Given the description of an element on the screen output the (x, y) to click on. 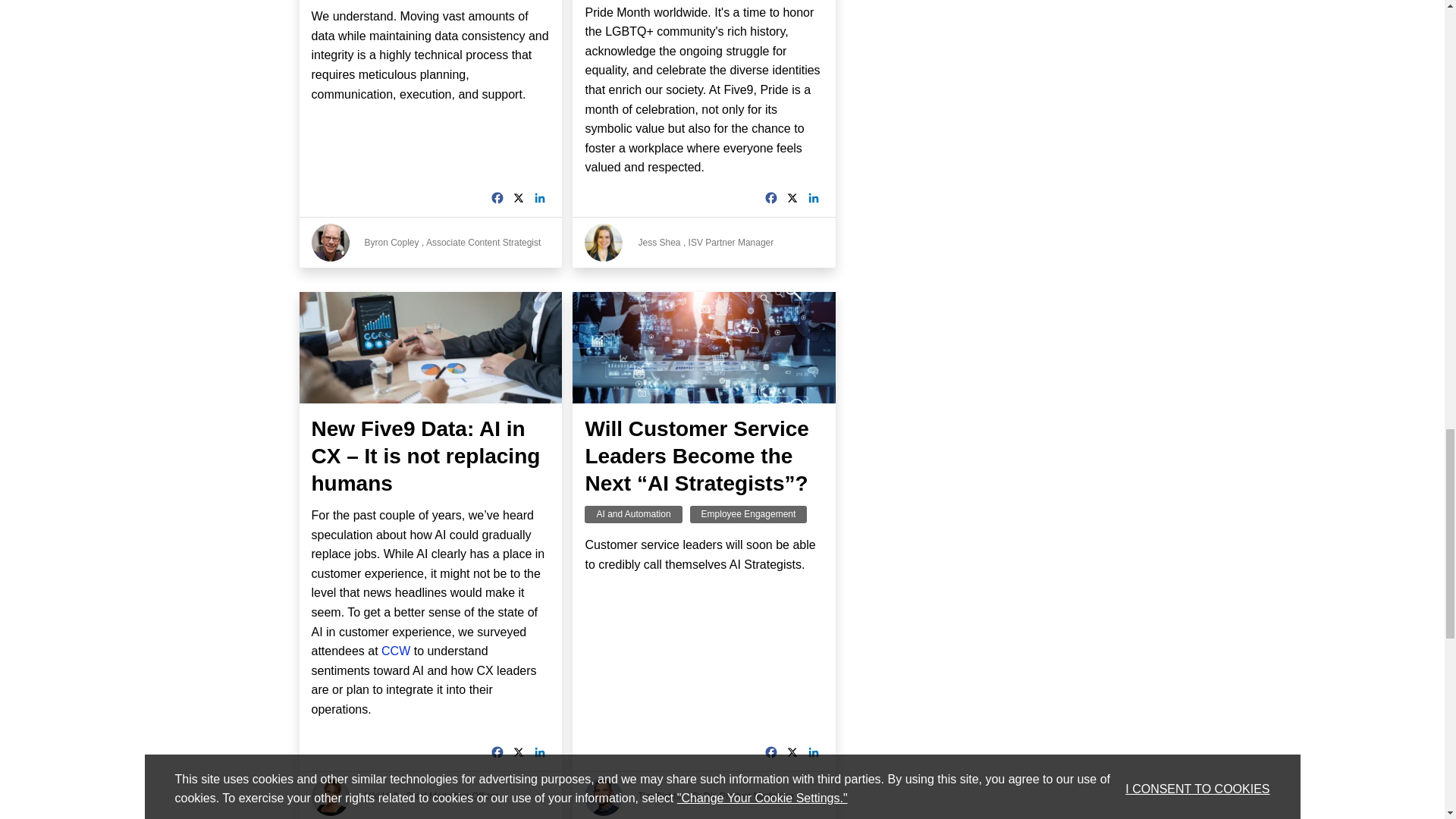
Placeholder image (330, 796)
